Given the description of an element on the screen output the (x, y) to click on. 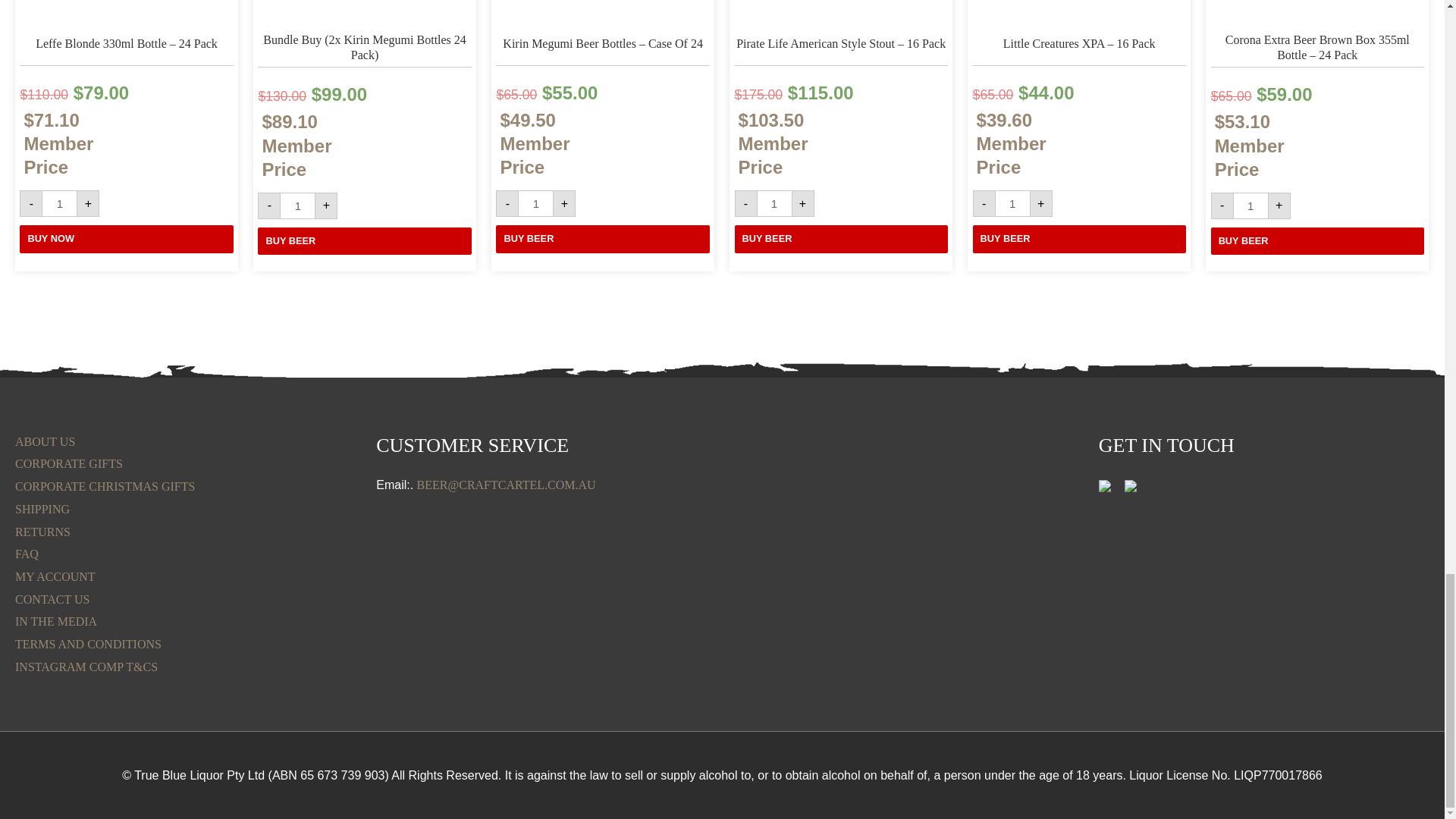
Qty (774, 203)
Qty (59, 203)
Qty (535, 203)
1 (59, 203)
1 (774, 203)
1 (535, 203)
1 (1012, 203)
1 (1250, 205)
Qty (1012, 203)
Qty (297, 205)
